Given the description of an element on the screen output the (x, y) to click on. 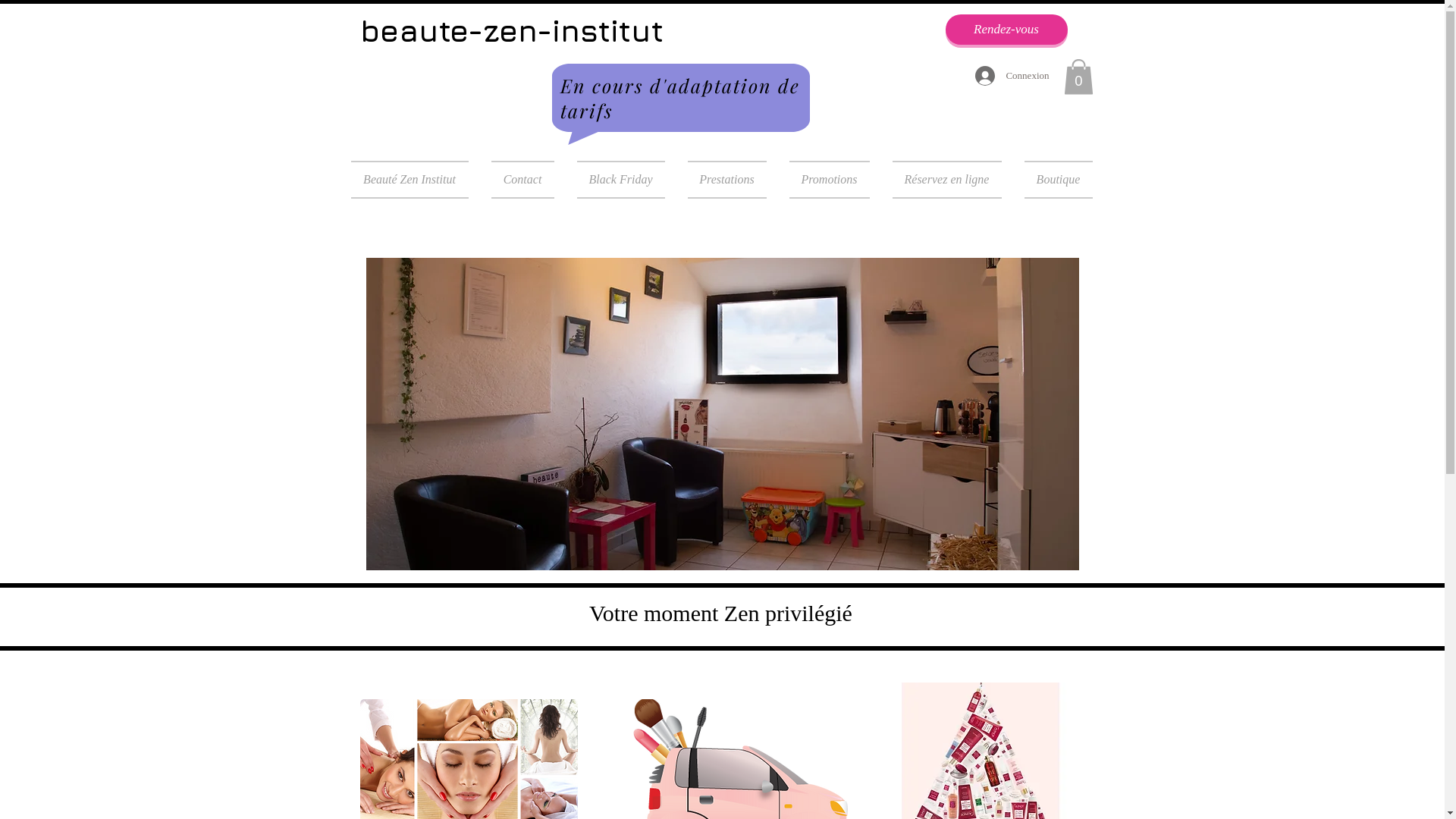
Prestations Element type: text (727, 179)
Boutique Element type: text (1052, 179)
Connexion Element type: text (1011, 75)
Contact Element type: text (521, 179)
Rendez-vous Element type: text (1005, 29)
Black Friday Element type: text (620, 179)
Promotions Element type: text (829, 179)
beaute-zen-institut Element type: text (510, 30)
0 Element type: text (1077, 76)
